Given the description of an element on the screen output the (x, y) to click on. 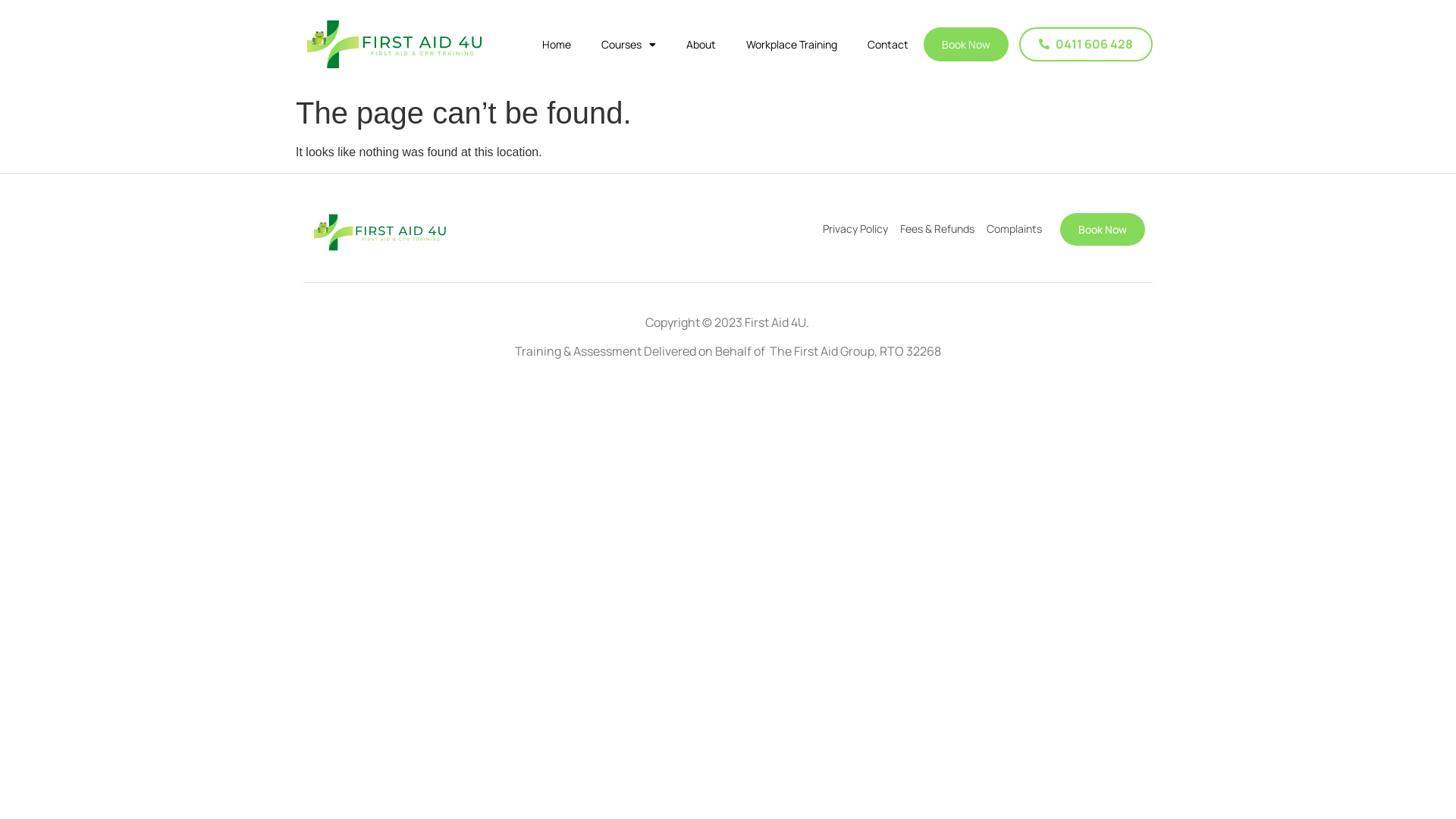
0411 606 428 Element type: text (1085, 44)
Book Now Element type: text (965, 44)
About Element type: text (701, 44)
Contact Element type: text (887, 44)
Courses Element type: text (628, 44)
Fees & Refunds Element type: text (937, 228)
Home Element type: text (556, 44)
Book Now Element type: text (1102, 229)
Complaints Element type: text (1013, 228)
Workplace Training Element type: text (791, 44)
